Given the description of an element on the screen output the (x, y) to click on. 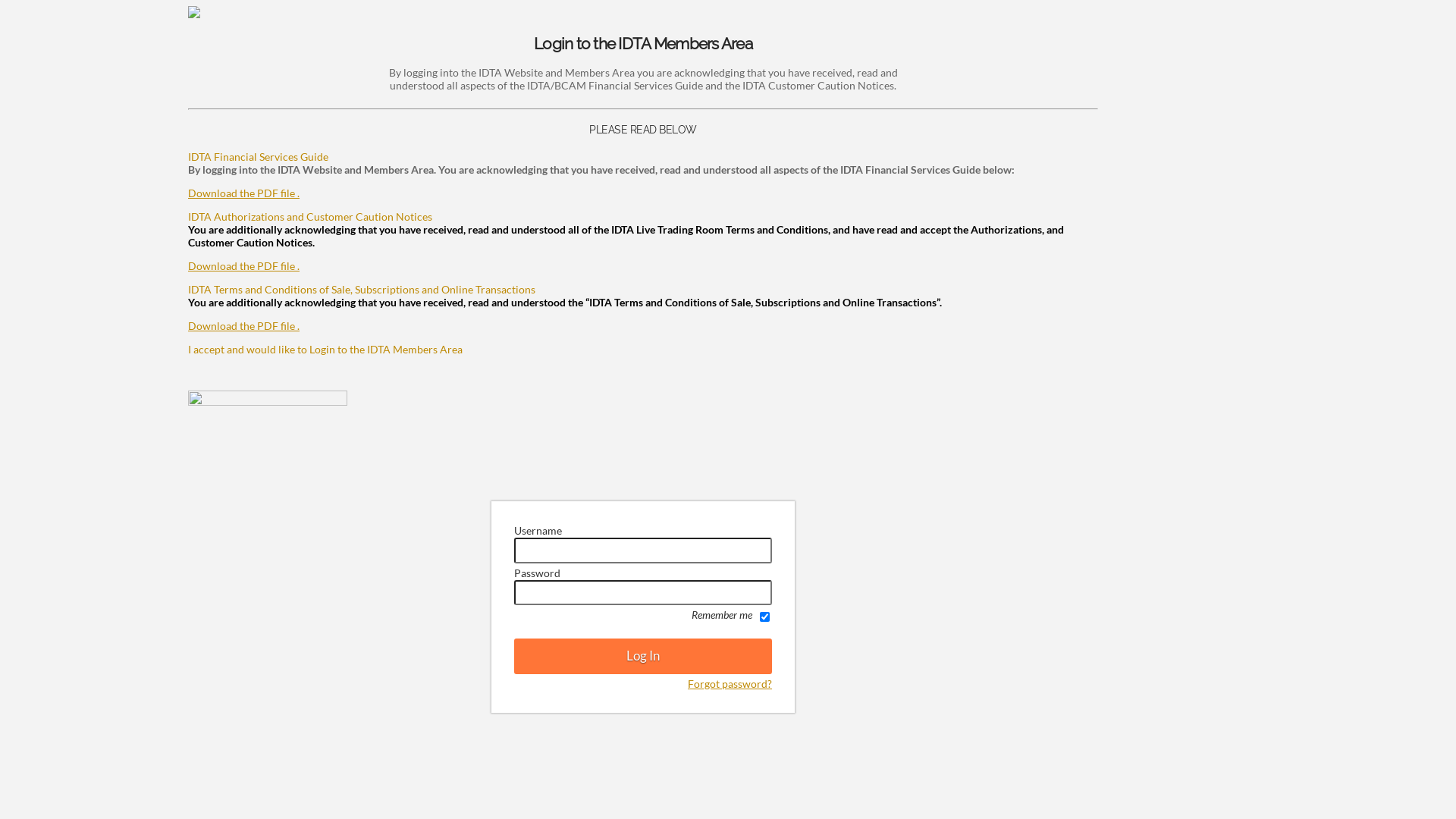
IDTA Financial Services Guide Element type: text (258, 156)
IDTA Authorizations and Customer Caution Notices Element type: text (310, 216)
Forgot password? Element type: text (729, 683)
Download the PDF file . Element type: text (243, 192)
I accept and would like to Login to the IDTA Members Area Element type: text (325, 348)
Download the PDF file . Element type: text (243, 325)
Download the PDF file . Element type: text (243, 265)
Log In Element type: text (642, 656)
